Given the description of an element on the screen output the (x, y) to click on. 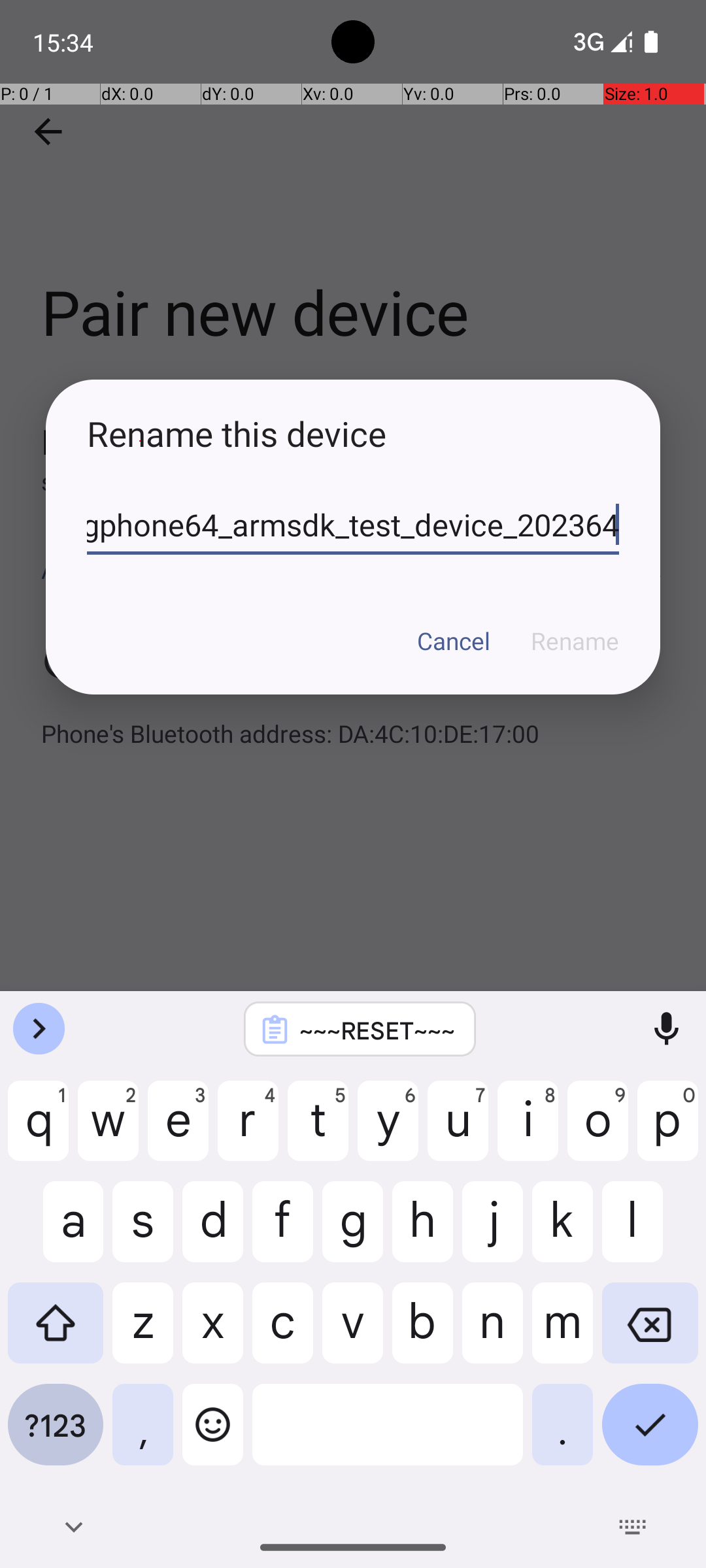
sdk_gphone64_armsdk_test_device_202364 Element type: android.widget.EditText (352, 525)
